Given the description of an element on the screen output the (x, y) to click on. 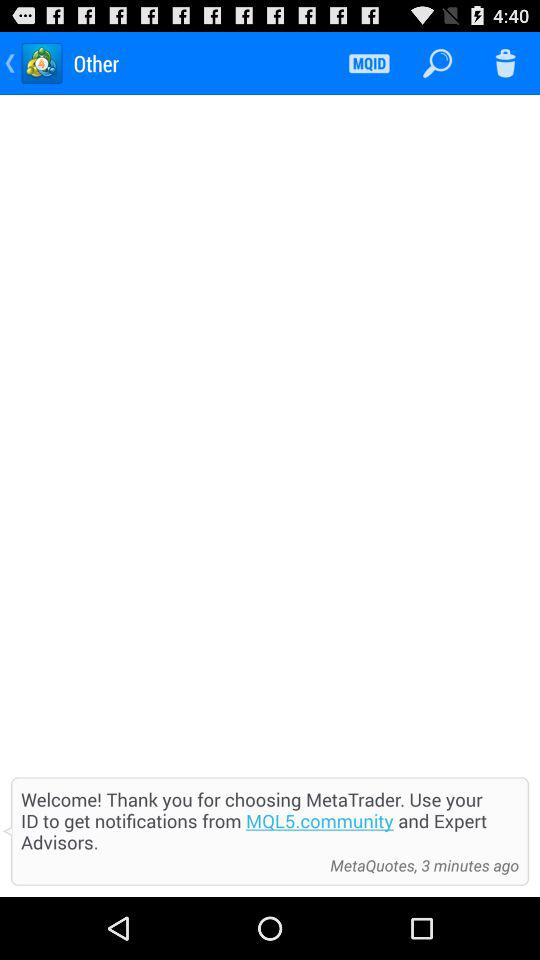
launch icon below welcome thank you (170, 865)
